Given the description of an element on the screen output the (x, y) to click on. 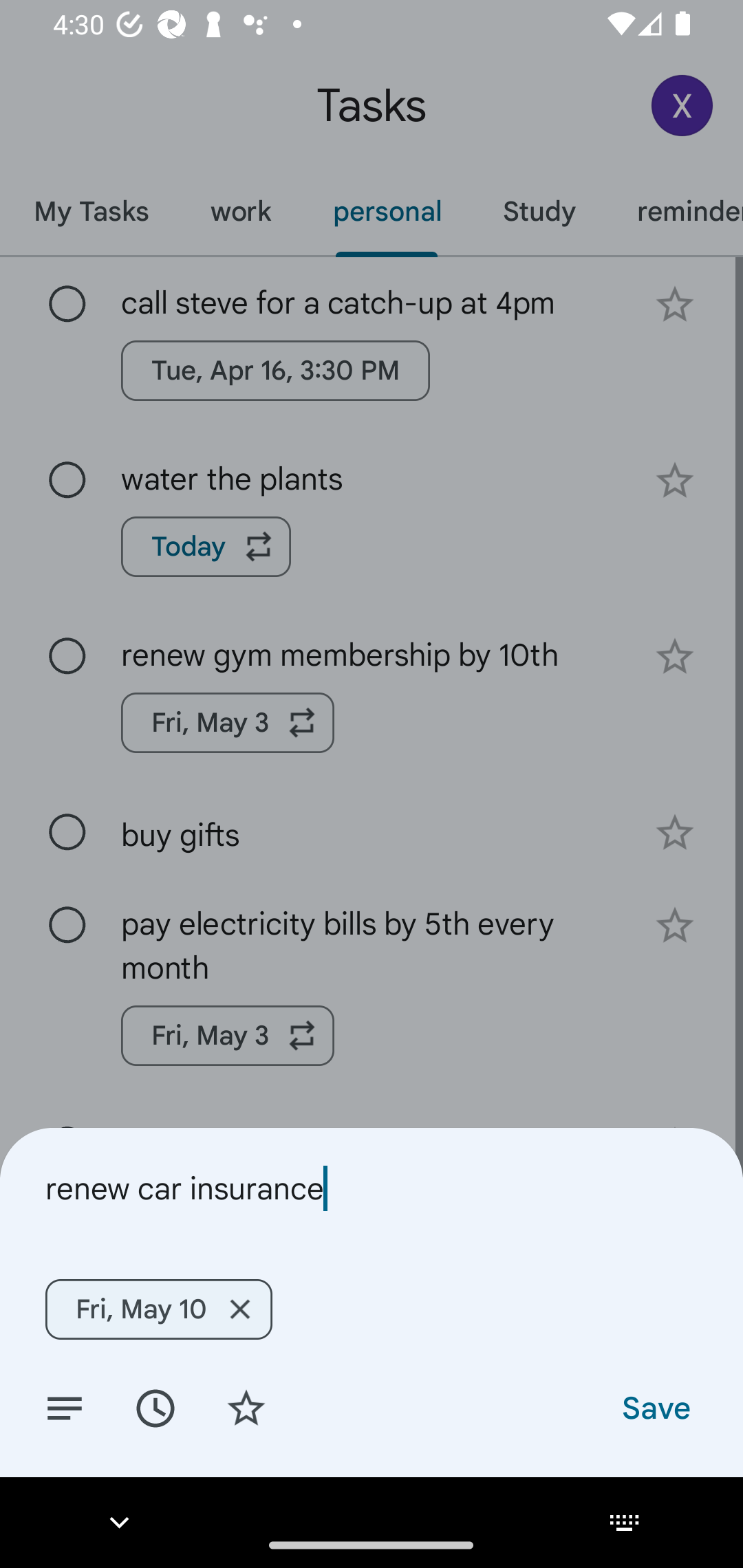
renew car insurance (371, 1188)
Fri, May 10 Remove Fri, May 10 (158, 1308)
Save (655, 1407)
Add details (64, 1407)
Set date/time (154, 1407)
Add star (245, 1407)
